Given the description of an element on the screen output the (x, y) to click on. 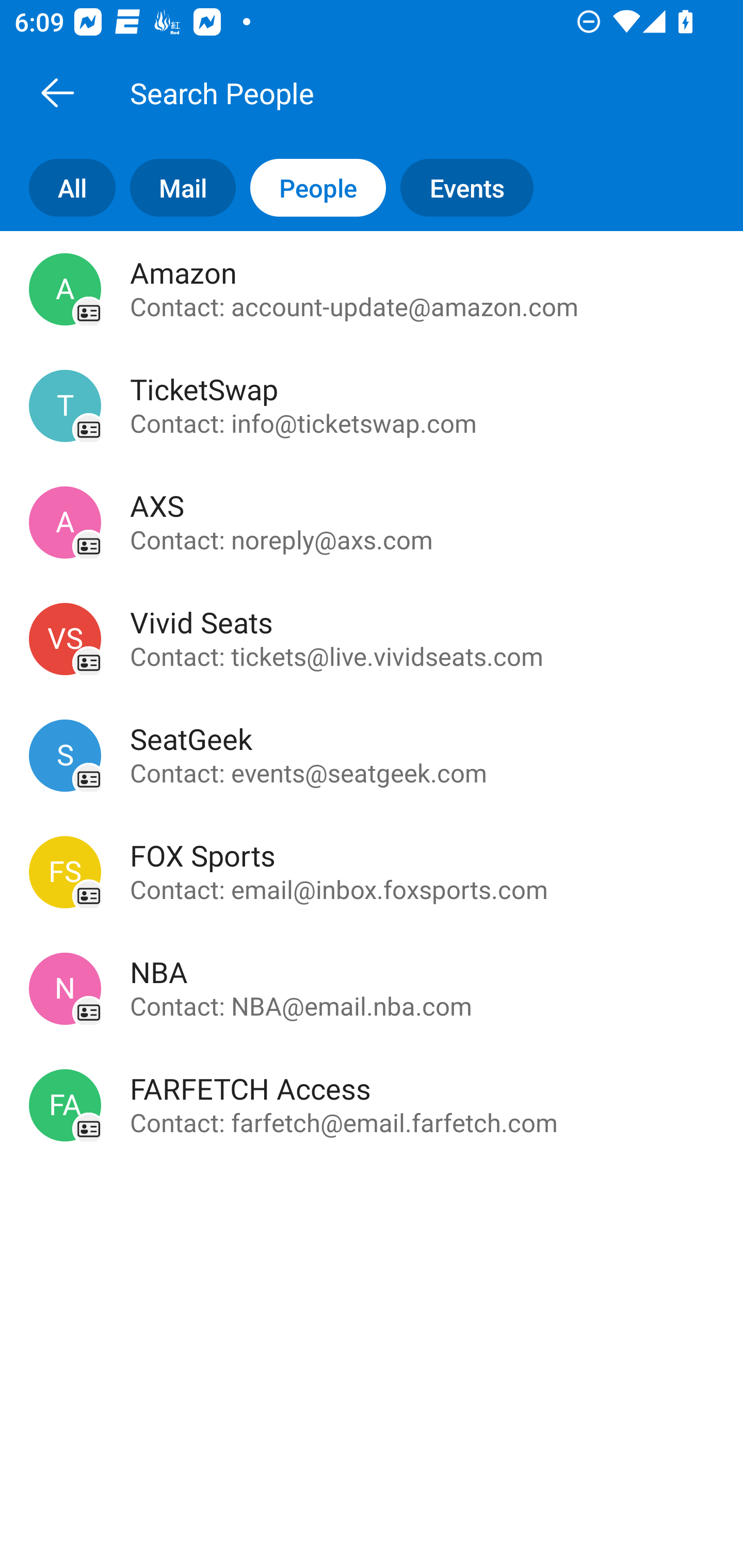
Back (57, 92)
Search People (394, 92)
All (57, 187)
Mail (175, 187)
Events (473, 187)
